Given the description of an element on the screen output the (x, y) to click on. 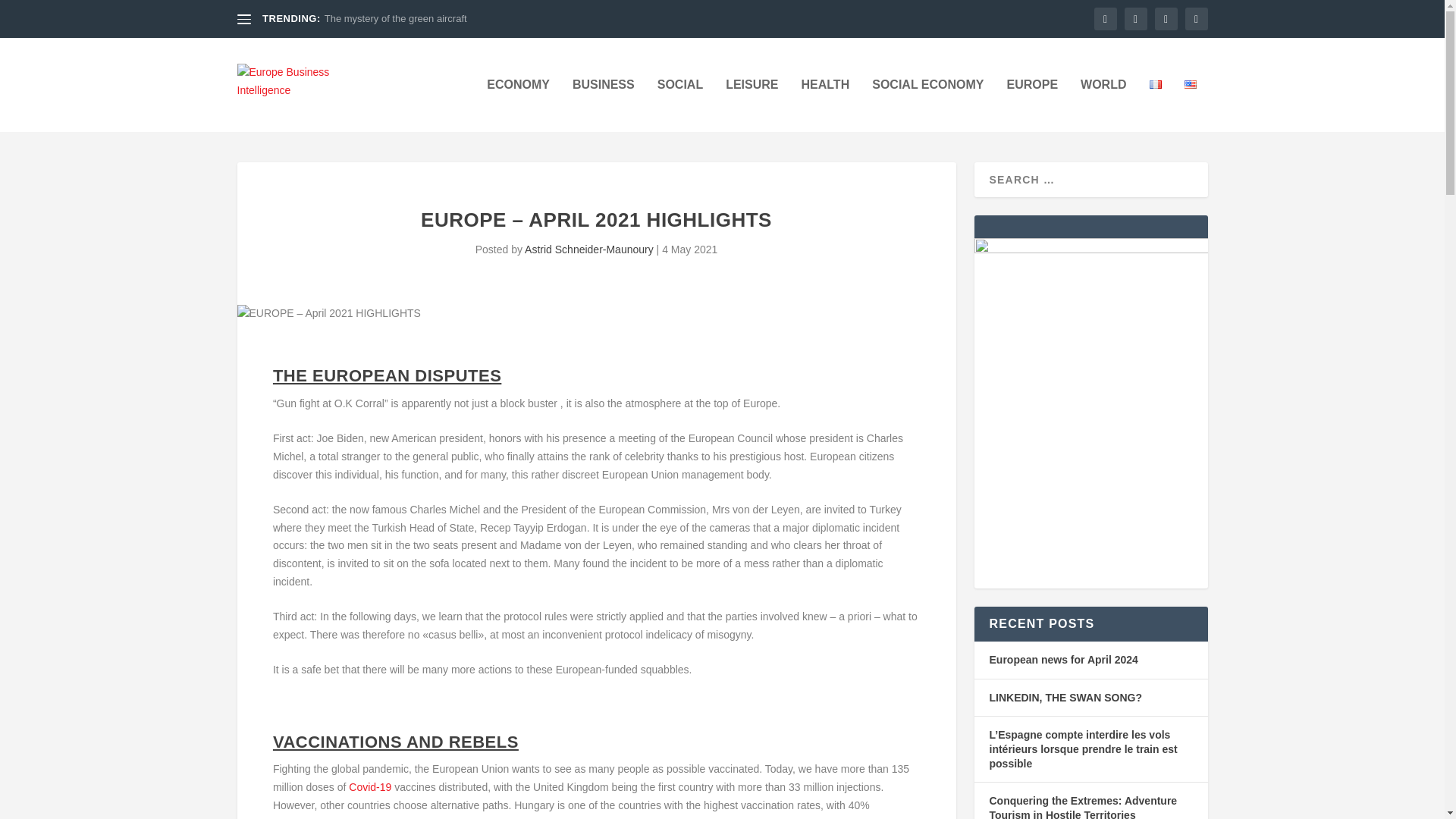
Search (31, 13)
ECONOMY (518, 104)
EUROPE (1032, 104)
Posts by Astrid Schneider-Maunoury (588, 249)
Astrid Schneider-Maunoury (588, 249)
LINKEDIN, THE SWAN SONG? (1064, 697)
LEISURE (751, 104)
Covid-19 (370, 787)
HEALTH (824, 104)
